Given the description of an element on the screen output the (x, y) to click on. 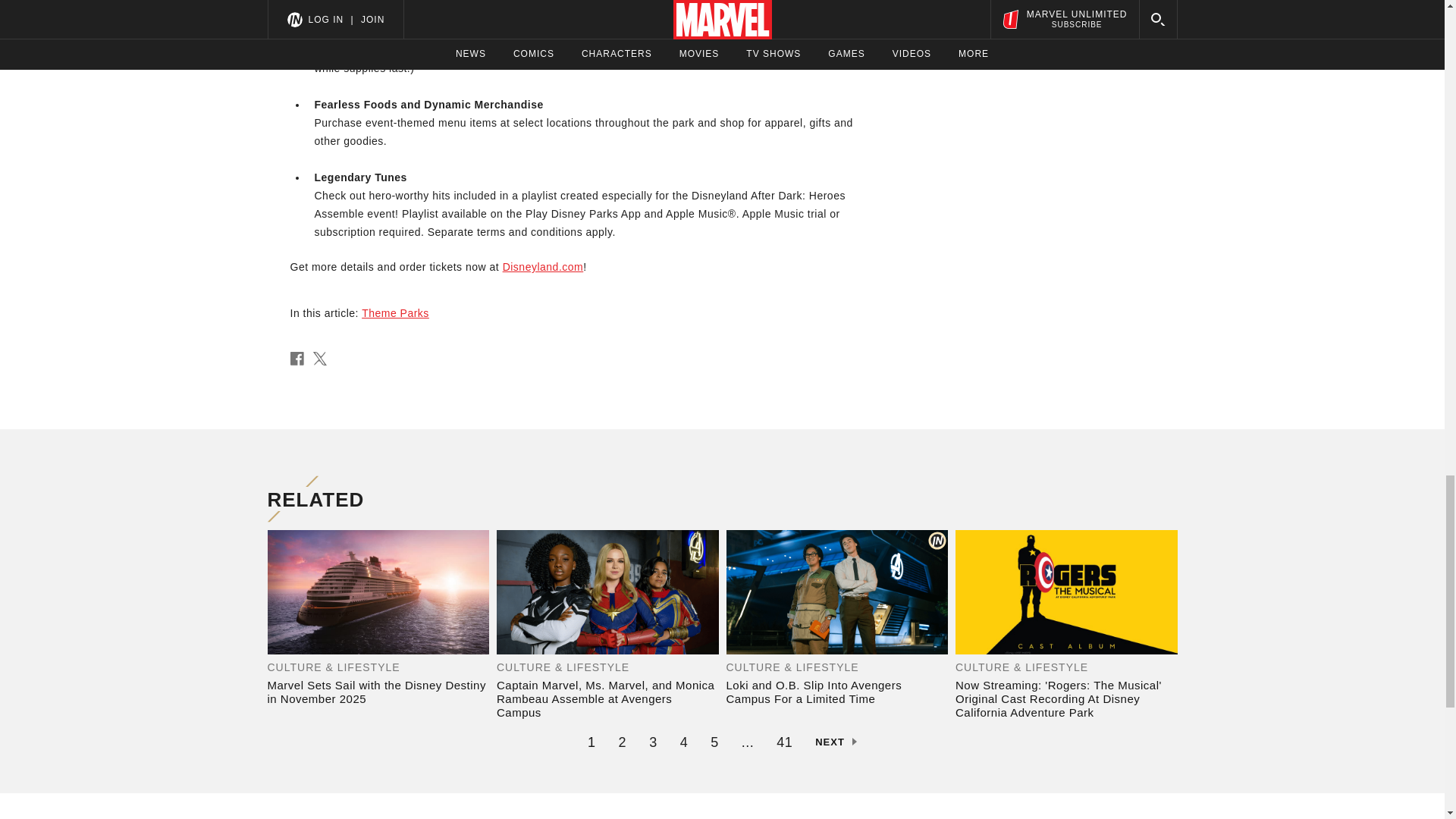
Disneyland.com (542, 266)
Theme Parks (395, 313)
Marvel Sets Sail with the Disney Destiny in November 2025 (377, 691)
